Given the description of an element on the screen output the (x, y) to click on. 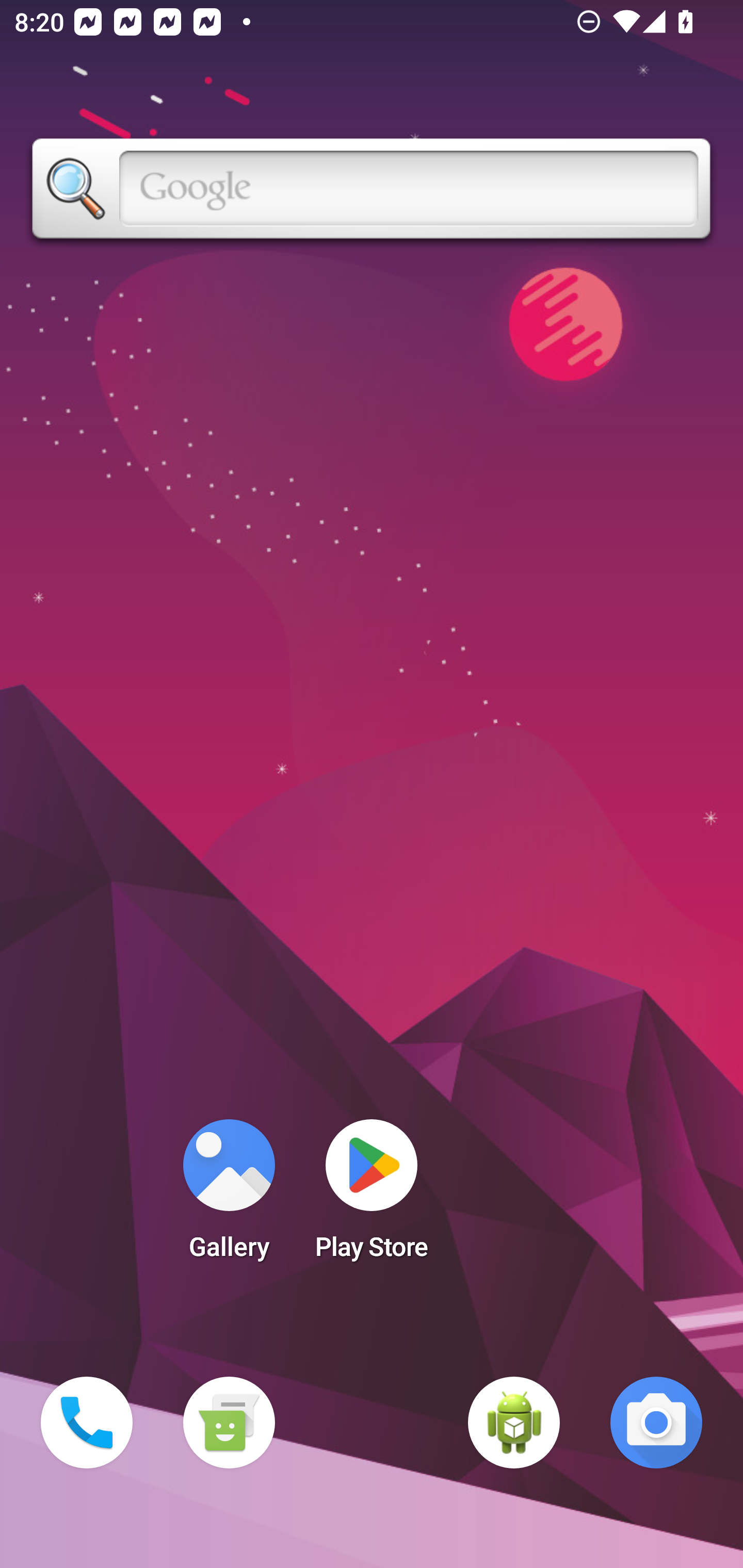
Gallery (228, 1195)
Play Store (371, 1195)
Phone (86, 1422)
Messaging (228, 1422)
WebView Browser Tester (513, 1422)
Camera (656, 1422)
